Given the description of an element on the screen output the (x, y) to click on. 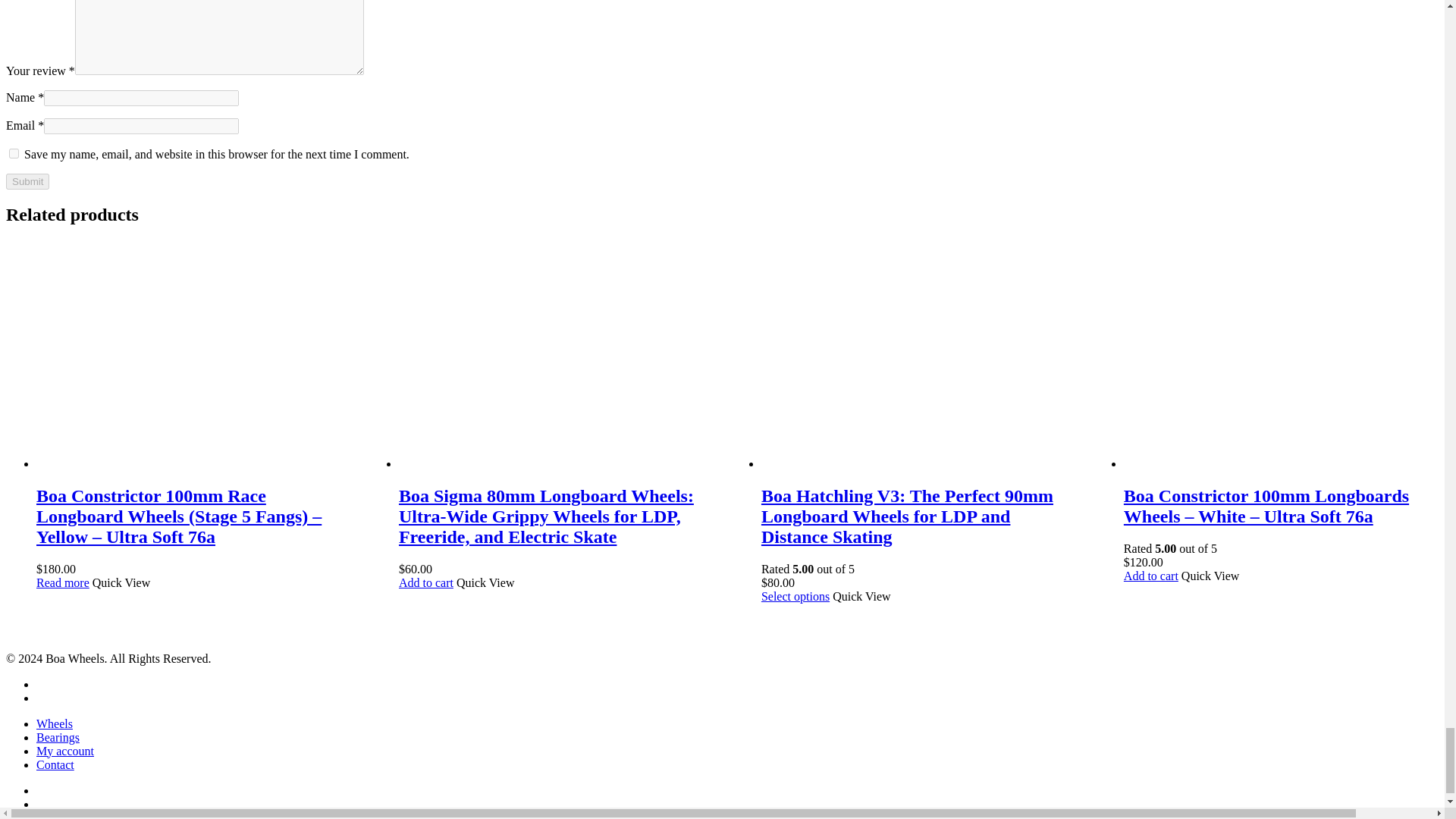
yes (13, 153)
Submit (27, 181)
